Given the description of an element on the screen output the (x, y) to click on. 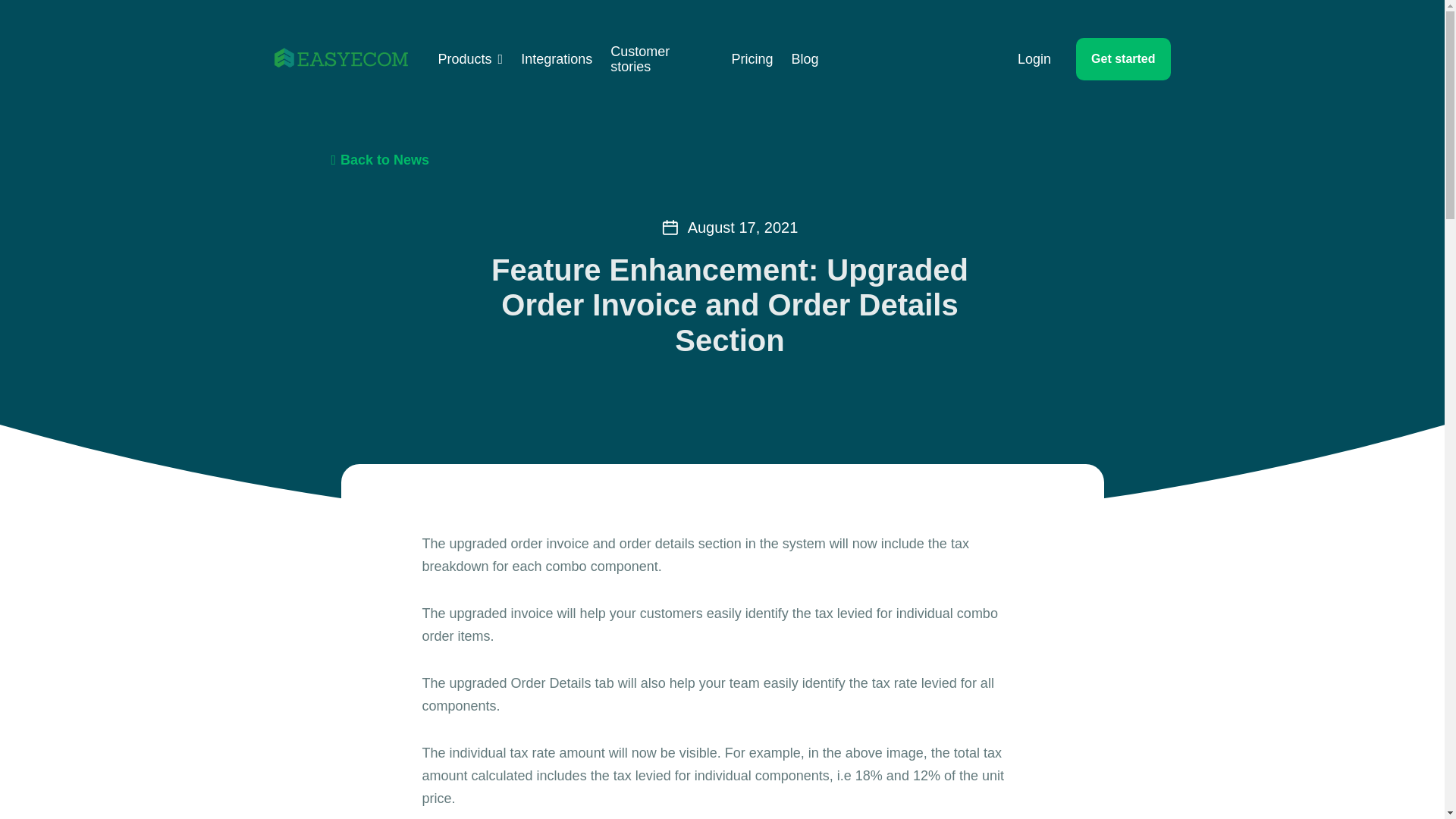
Blog (804, 58)
Login (1034, 58)
Integrations (556, 58)
Pricing (751, 58)
Customer stories (661, 59)
Get started (1122, 58)
